Given the description of an element on the screen output the (x, y) to click on. 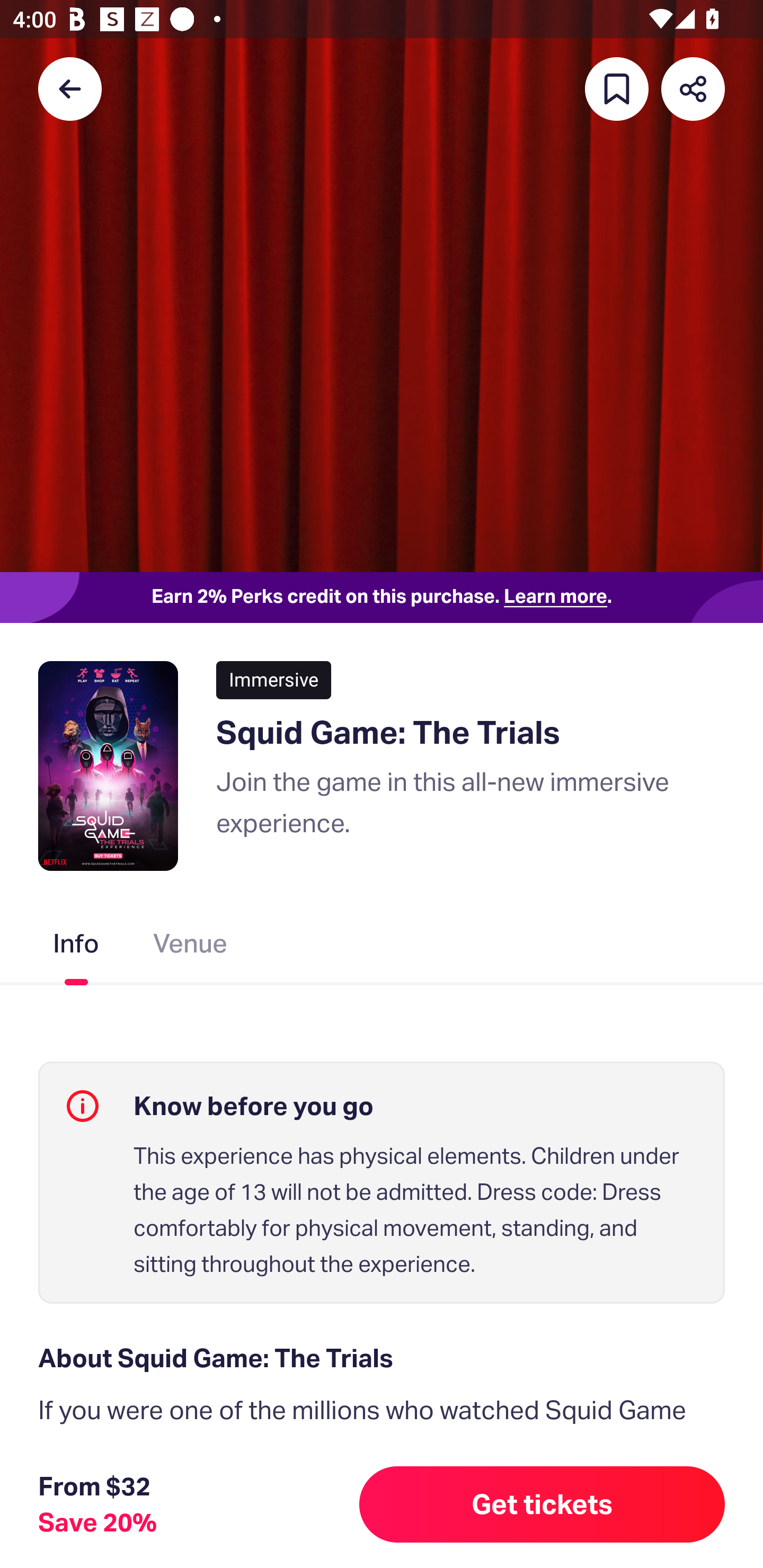
Earn 2% Perks credit on this purchase. Learn more. (381, 597)
Venue (190, 946)
About Squid Game: The Trials (381, 1358)
Get tickets (541, 1504)
